Given the description of an element on the screen output the (x, y) to click on. 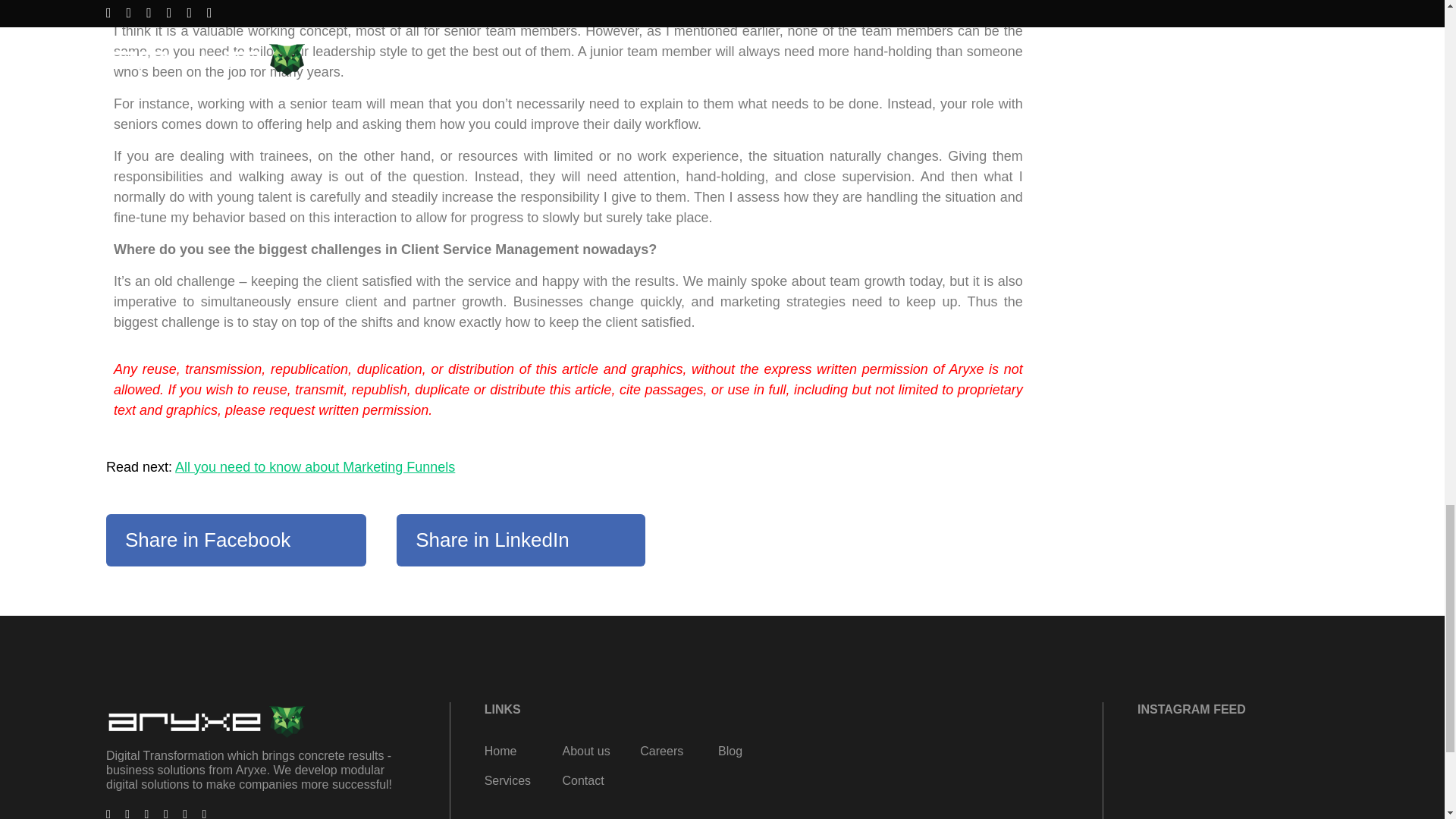
Home (500, 750)
Careers (661, 750)
Blog (729, 750)
All you need to know about Marketing Funnels (314, 467)
About us (586, 750)
Share in LinkedIn (520, 540)
Contact (583, 780)
Services (507, 780)
Share in Facebook (236, 540)
